Given the description of an element on the screen output the (x, y) to click on. 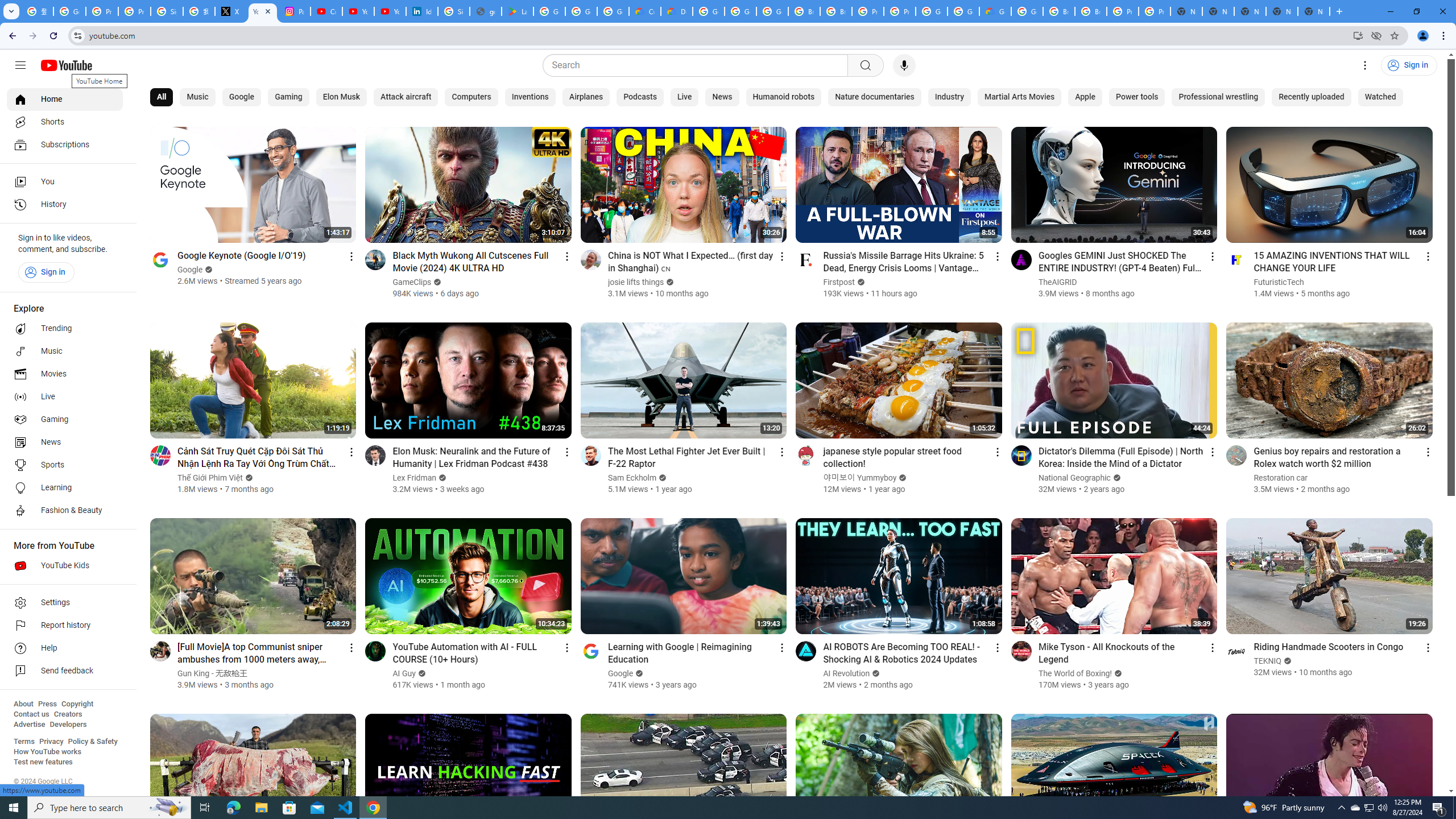
Power tools (1136, 97)
Nature documentaries (874, 97)
FuturisticTech (1278, 282)
Industry (949, 97)
